Given the description of an element on the screen output the (x, y) to click on. 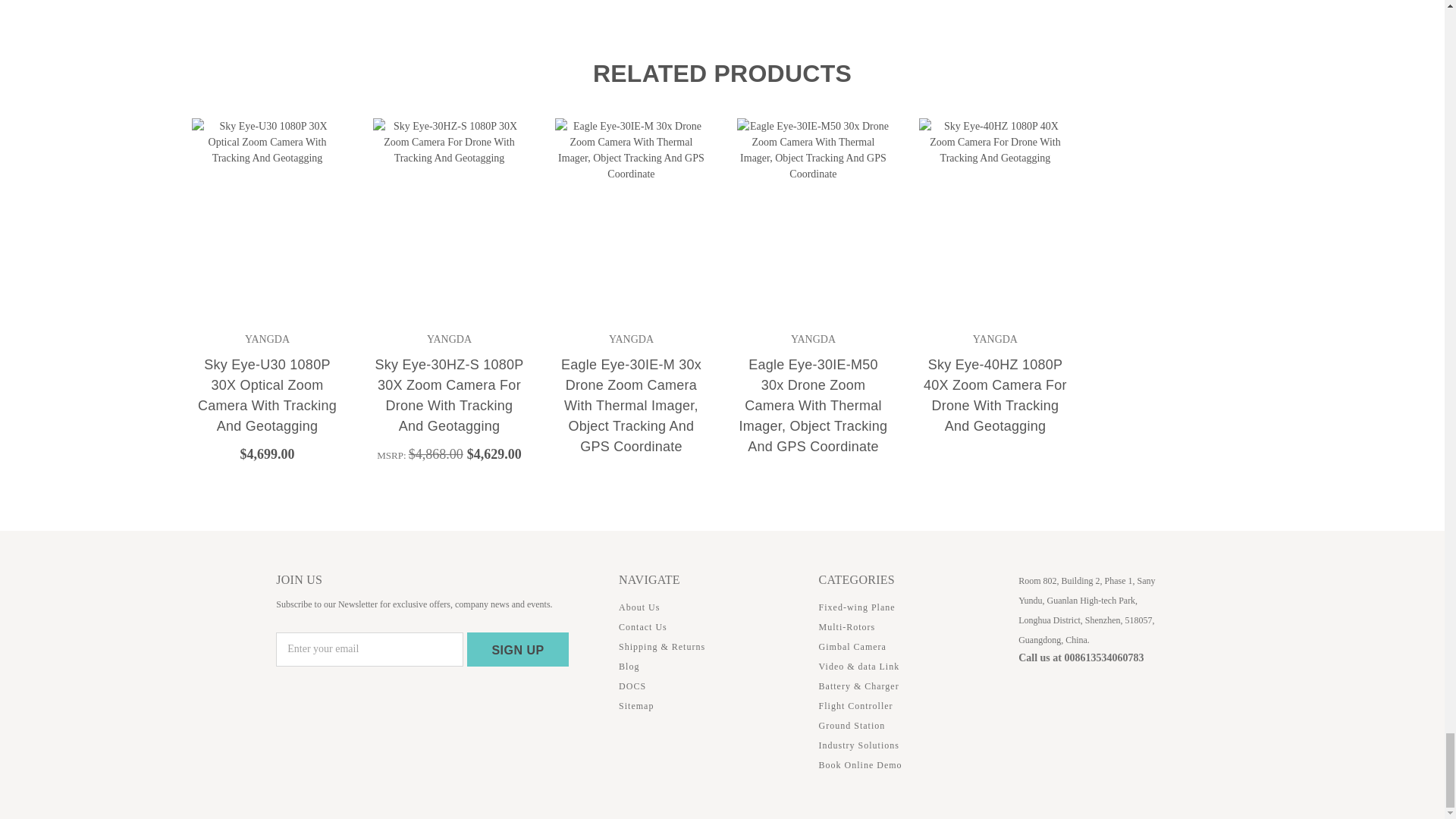
Sign Up (518, 649)
